Given the description of an element on the screen output the (x, y) to click on. 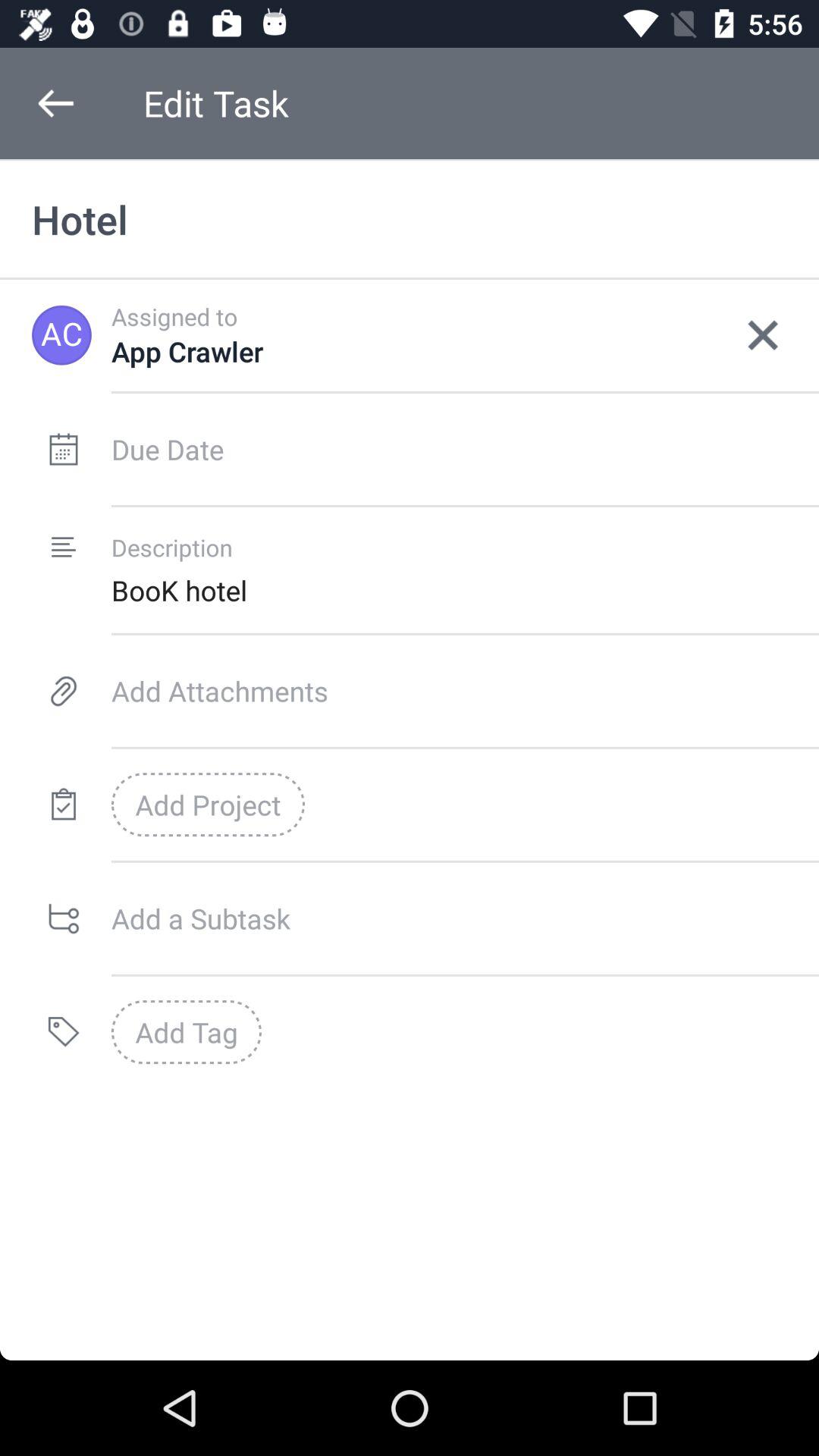
add new attachments (465, 690)
